Given the description of an element on the screen output the (x, y) to click on. 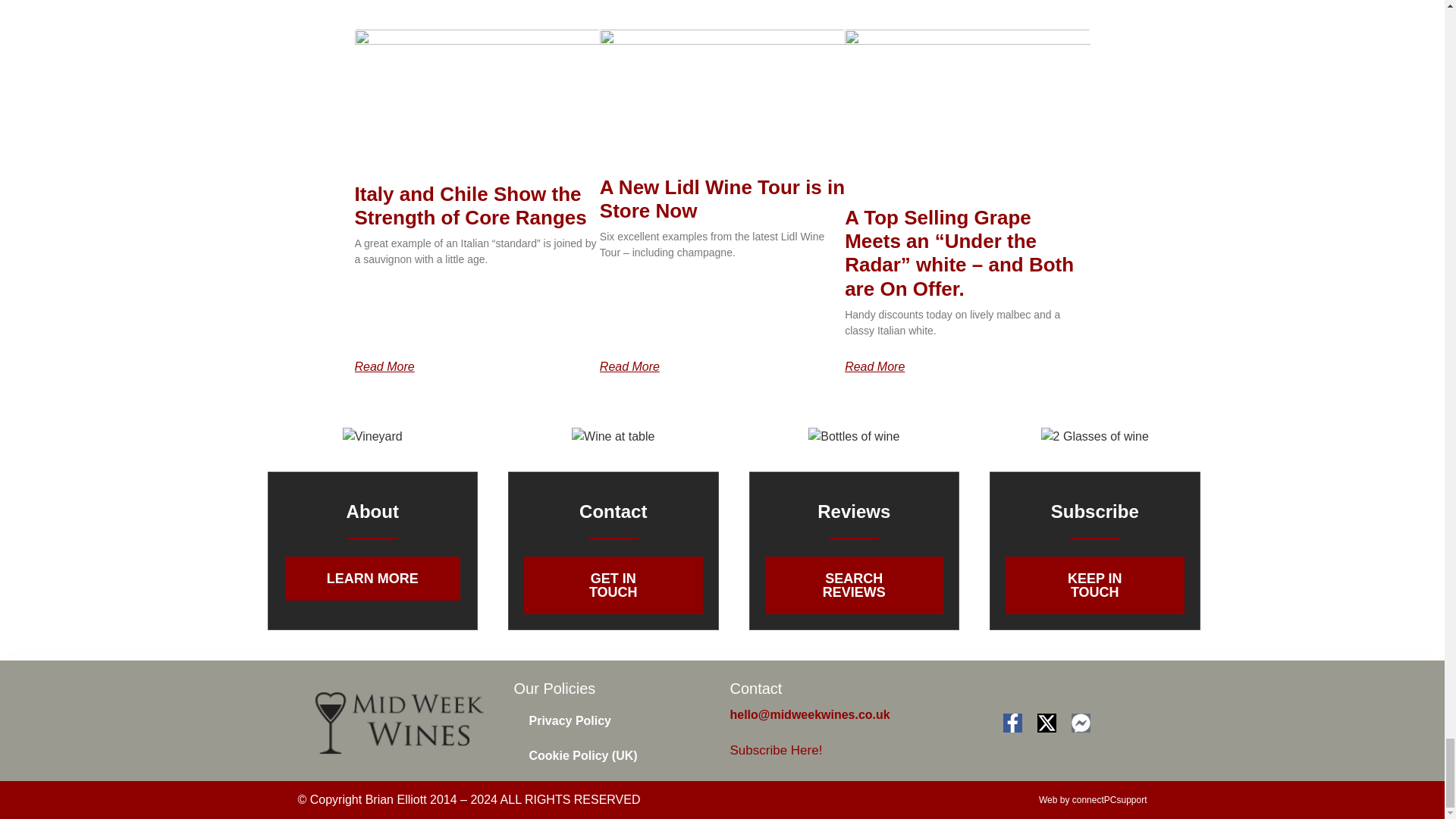
Vineyard (372, 436)
Italy and Chile Show the Strength of Core Ranges (470, 205)
Wine at table (612, 436)
Read More (384, 367)
Read More (629, 367)
A New Lidl Wine Tour is in Store Now (721, 198)
2 Glasses of wine (1094, 436)
farehamwine1 (853, 436)
